Given the description of an element on the screen output the (x, y) to click on. 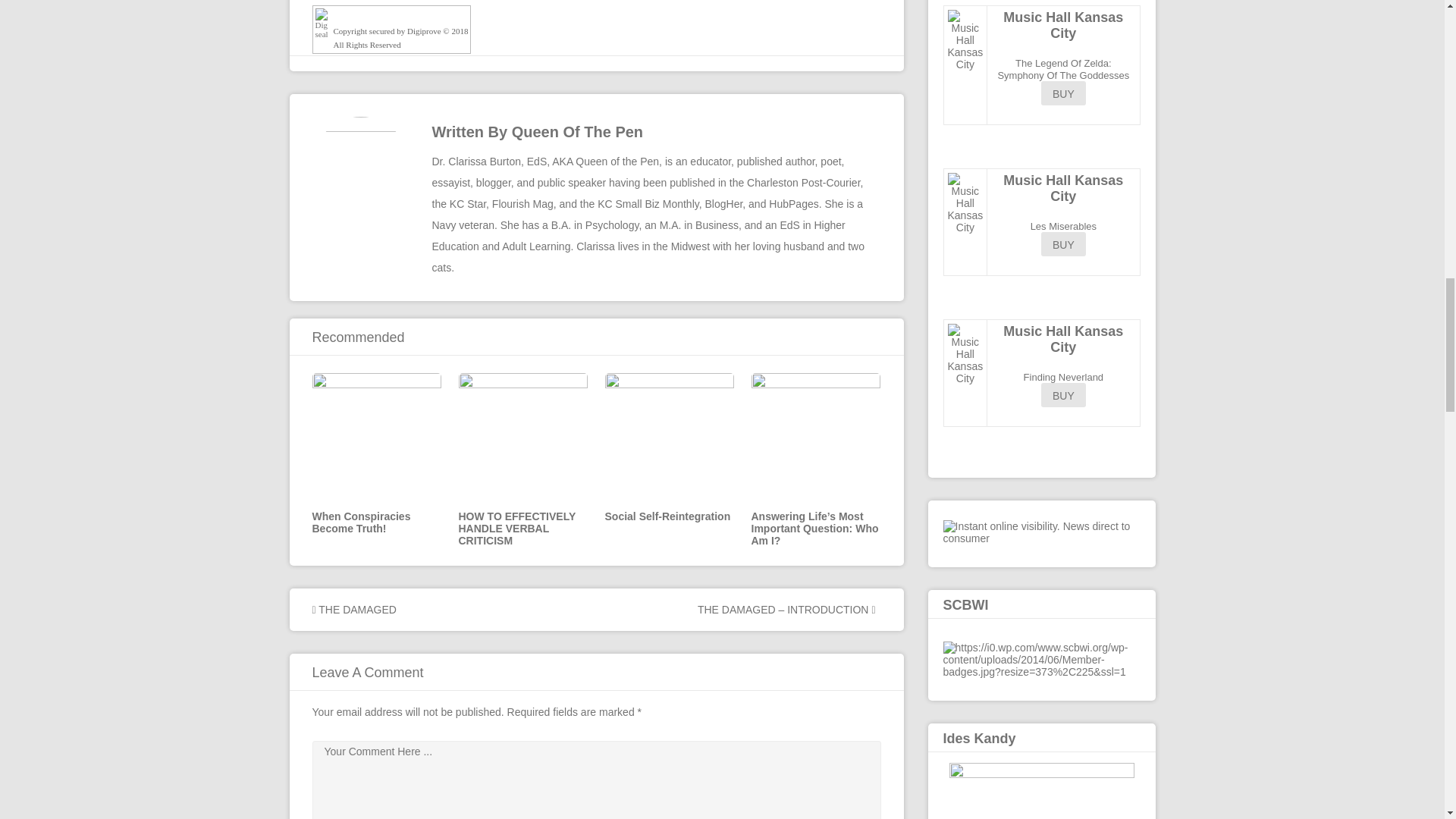
Buy (1063, 395)
Buy (1063, 243)
Buy (1063, 93)
